Given the description of an element on the screen output the (x, y) to click on. 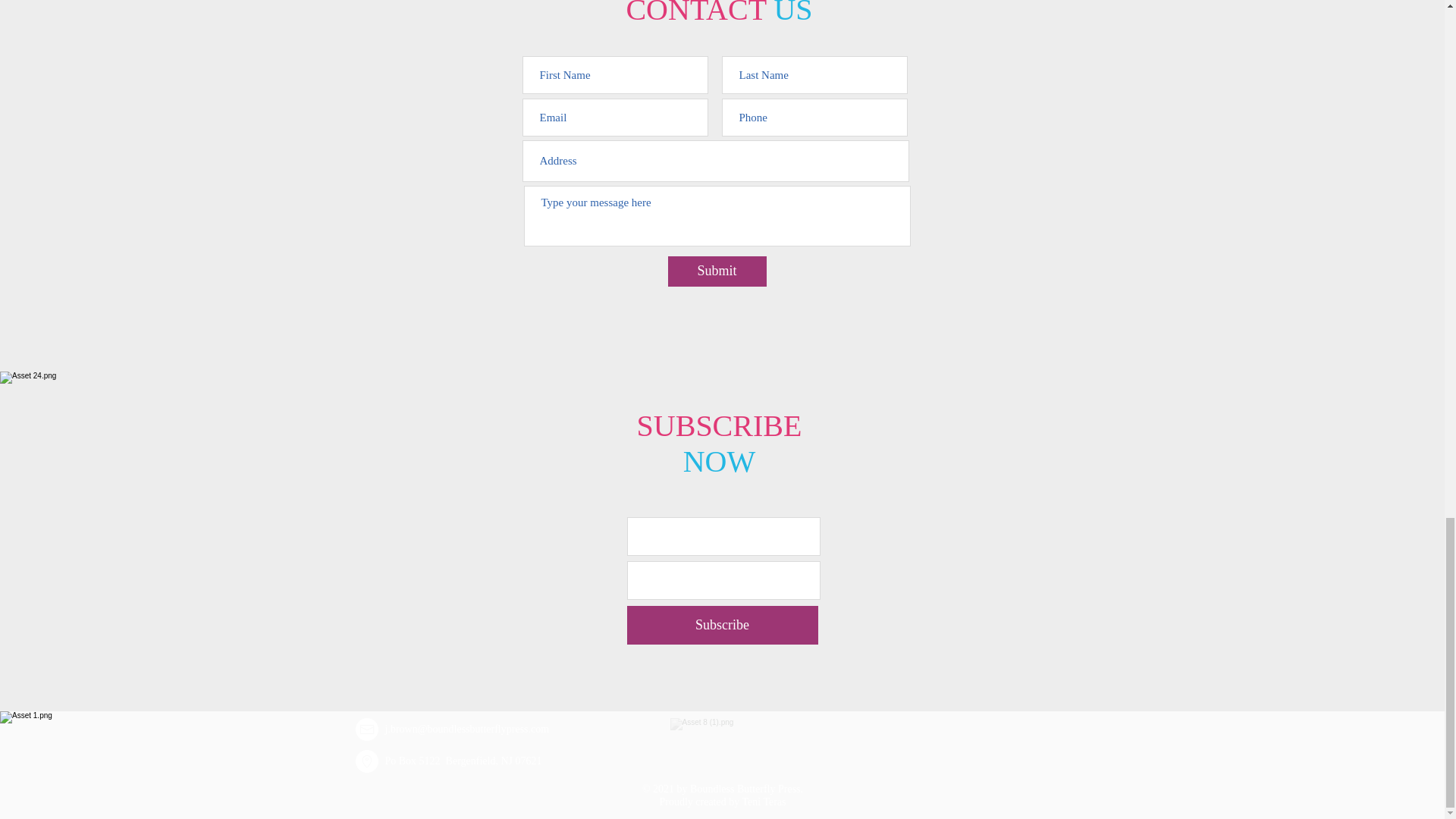
Submit (715, 271)
Subscribe (721, 625)
Teni Teras (763, 801)
